Given the description of an element on the screen output the (x, y) to click on. 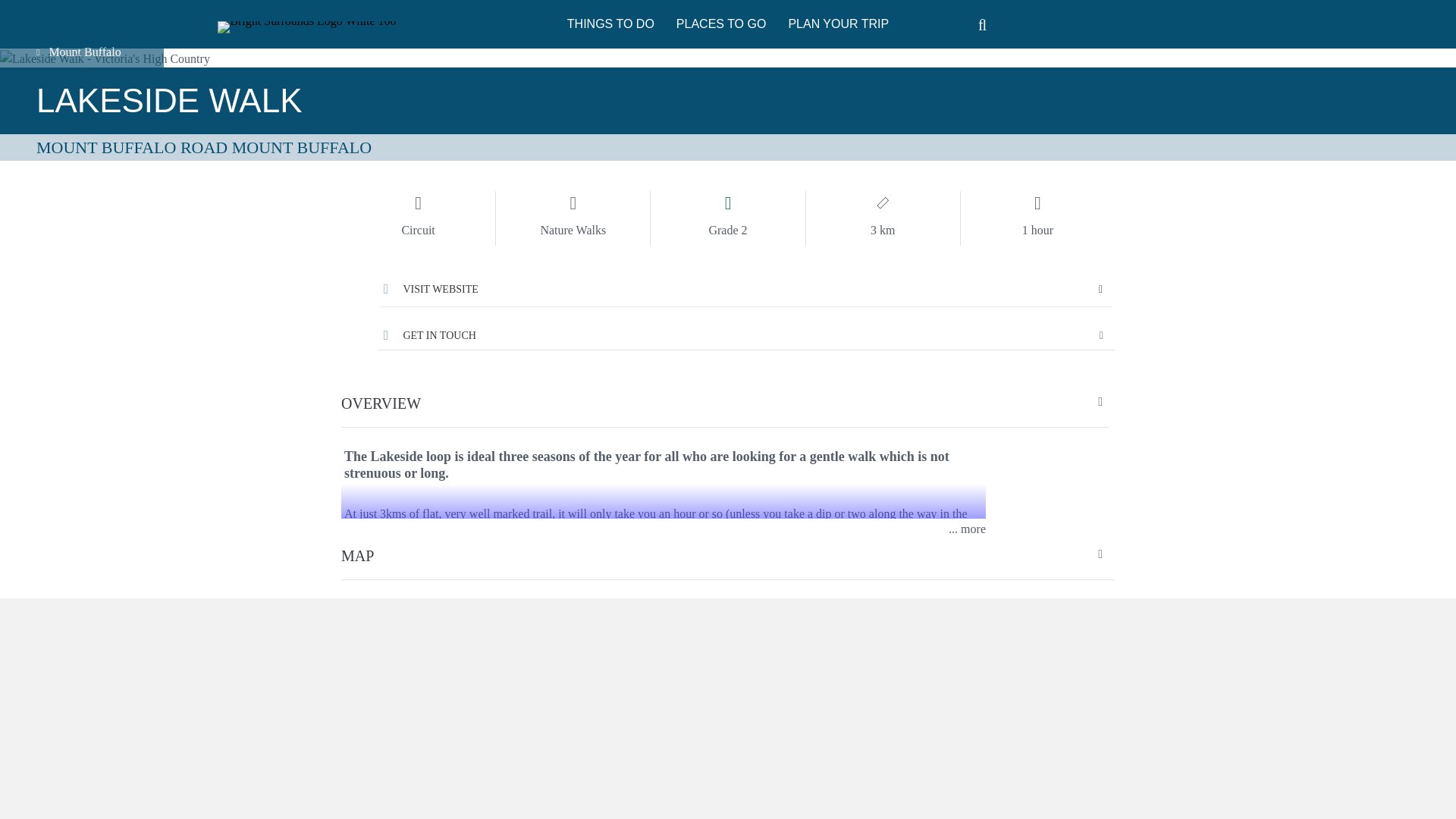
Nature Walks (572, 202)
Circuit (417, 202)
Bright Surrounds Logo White 100 (306, 27)
PLAN YOUR TRIP (838, 23)
GET IN TOUCH (746, 335)
Mount Buffalo (81, 51)
1 hour (1037, 202)
Mount Buffalo (81, 51)
PLACES TO GO (721, 23)
VISIT WEBSITE (430, 288)
3  (882, 202)
THINGS TO DO (610, 23)
